Given the description of an element on the screen output the (x, y) to click on. 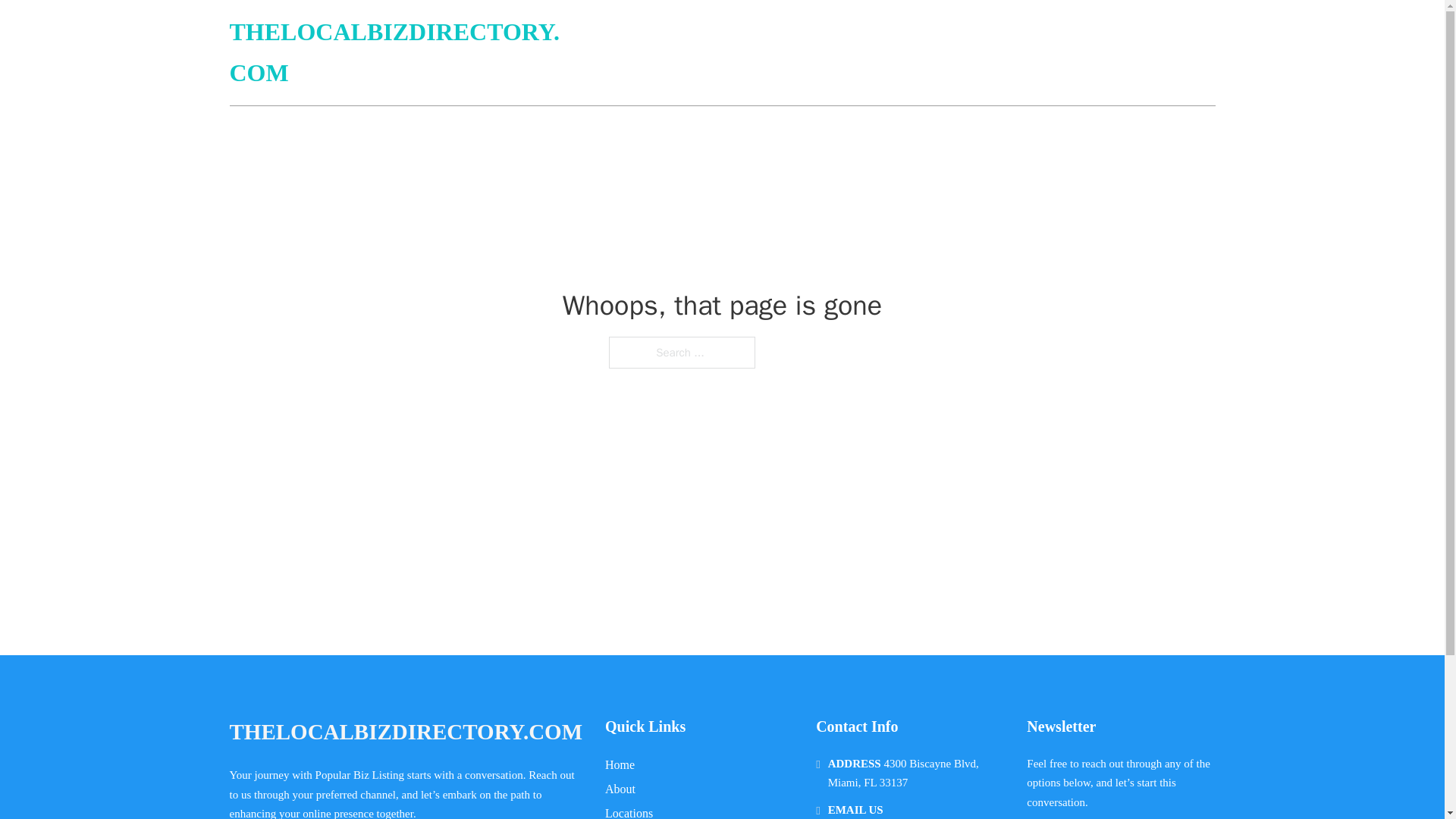
HOME (1032, 53)
About (619, 788)
Home (619, 764)
THELOCALBIZDIRECTORY.COM (400, 52)
LOCATIONS (1105, 53)
THELOCALBIZDIRECTORY.COM (405, 732)
Locations (628, 811)
